Given the description of an element on the screen output the (x, y) to click on. 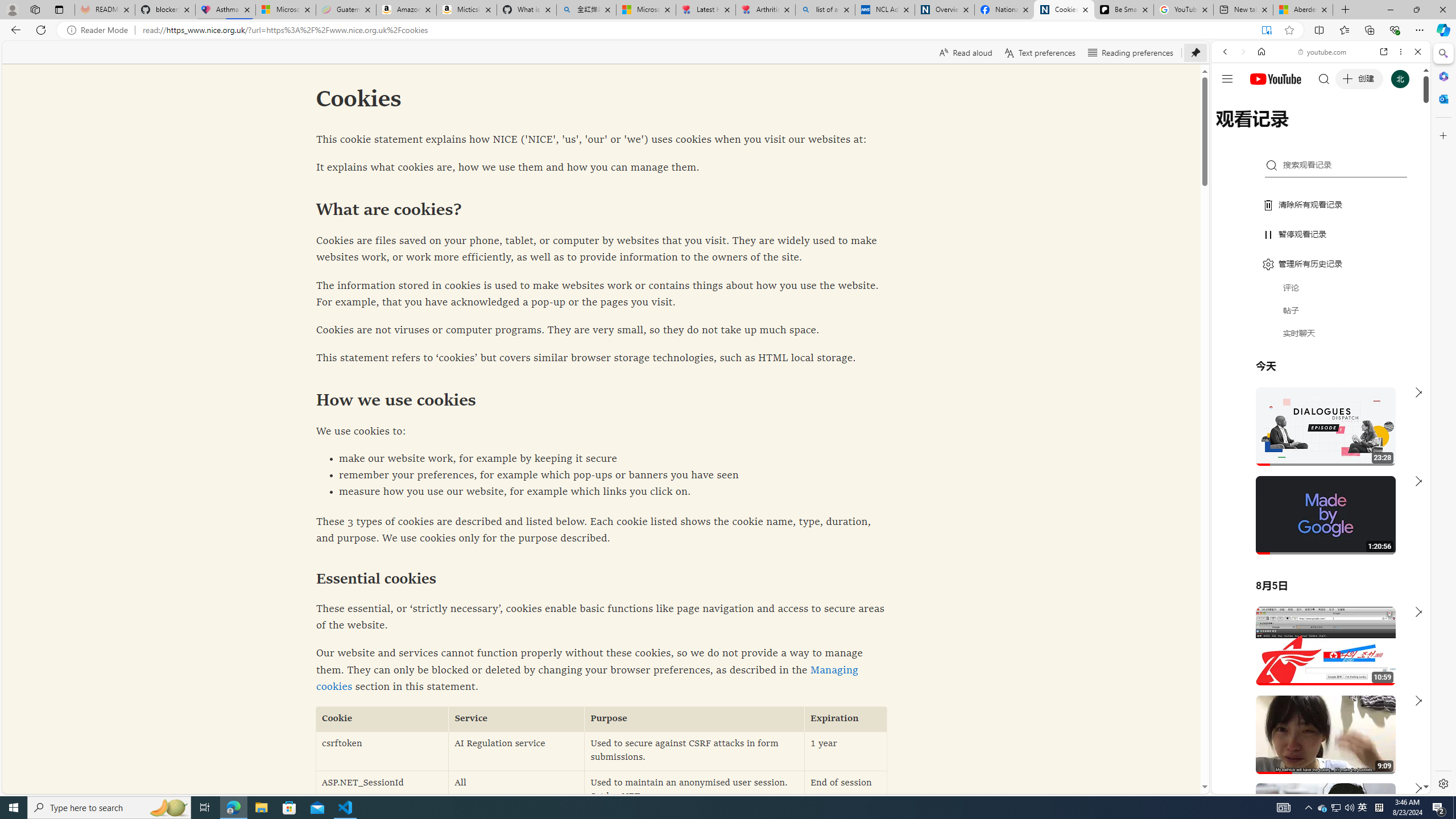
Service (516, 718)
csrftoken (381, 751)
